Given the description of an element on the screen output the (x, y) to click on. 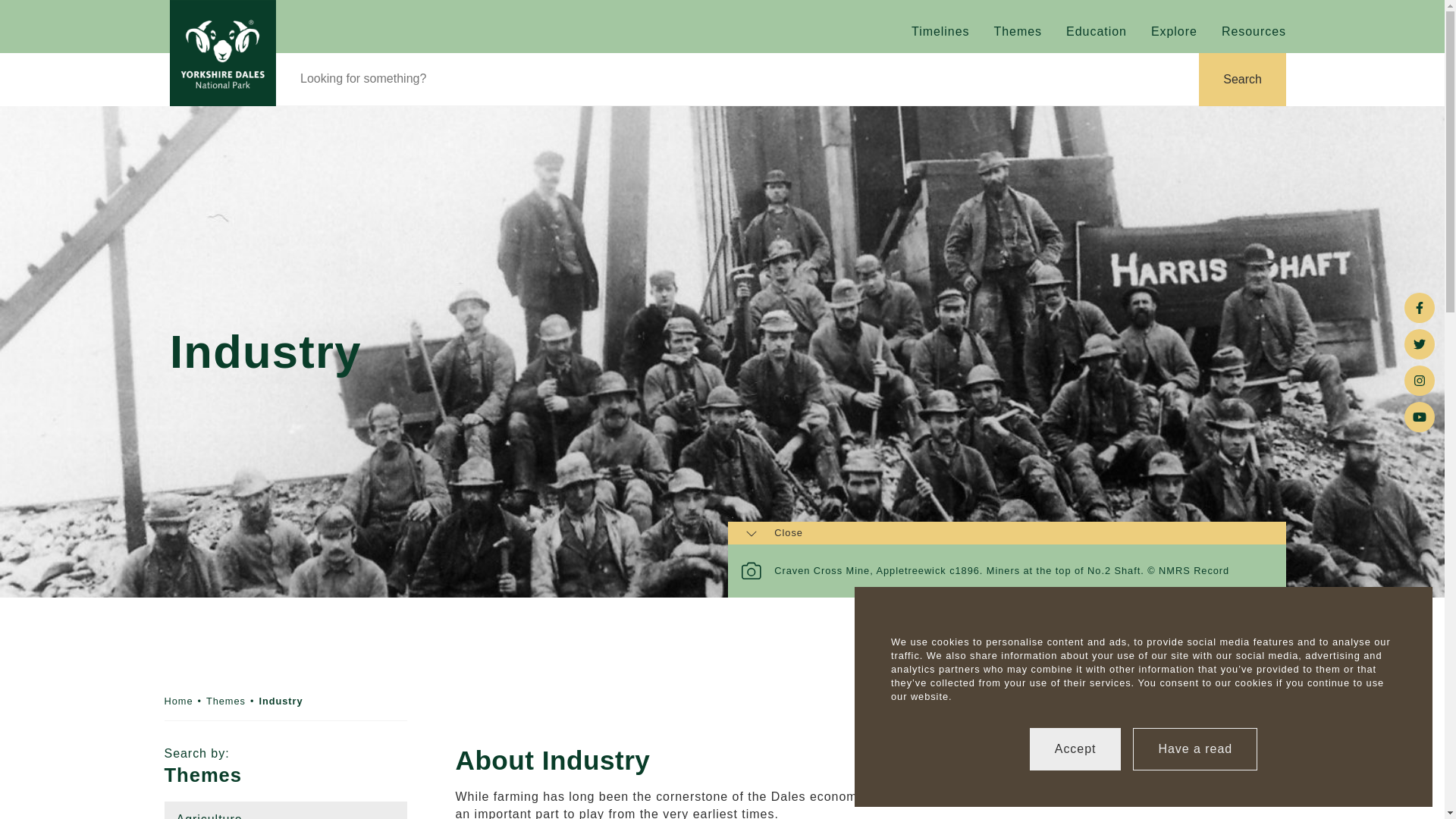
Industry (280, 700)
Home (177, 700)
Search (1241, 79)
Search for: (737, 78)
Themes (226, 700)
Search (1241, 79)
